Given the description of an element on the screen output the (x, y) to click on. 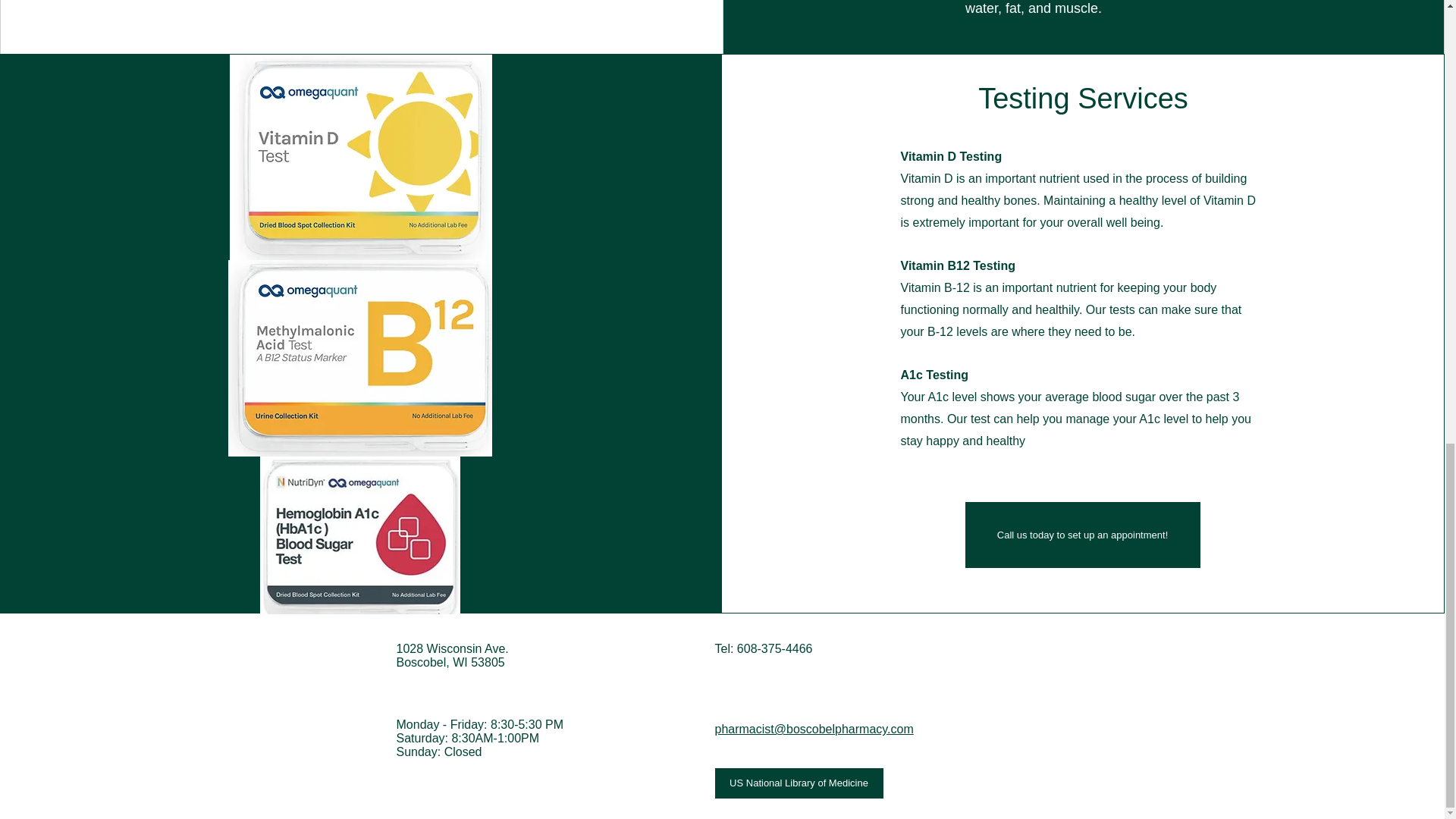
US National Library of Medicine (798, 783)
ndependent Pharmacy Software (997, 786)
Call us today to set up an appointment! (1082, 535)
